Given the description of an element on the screen output the (x, y) to click on. 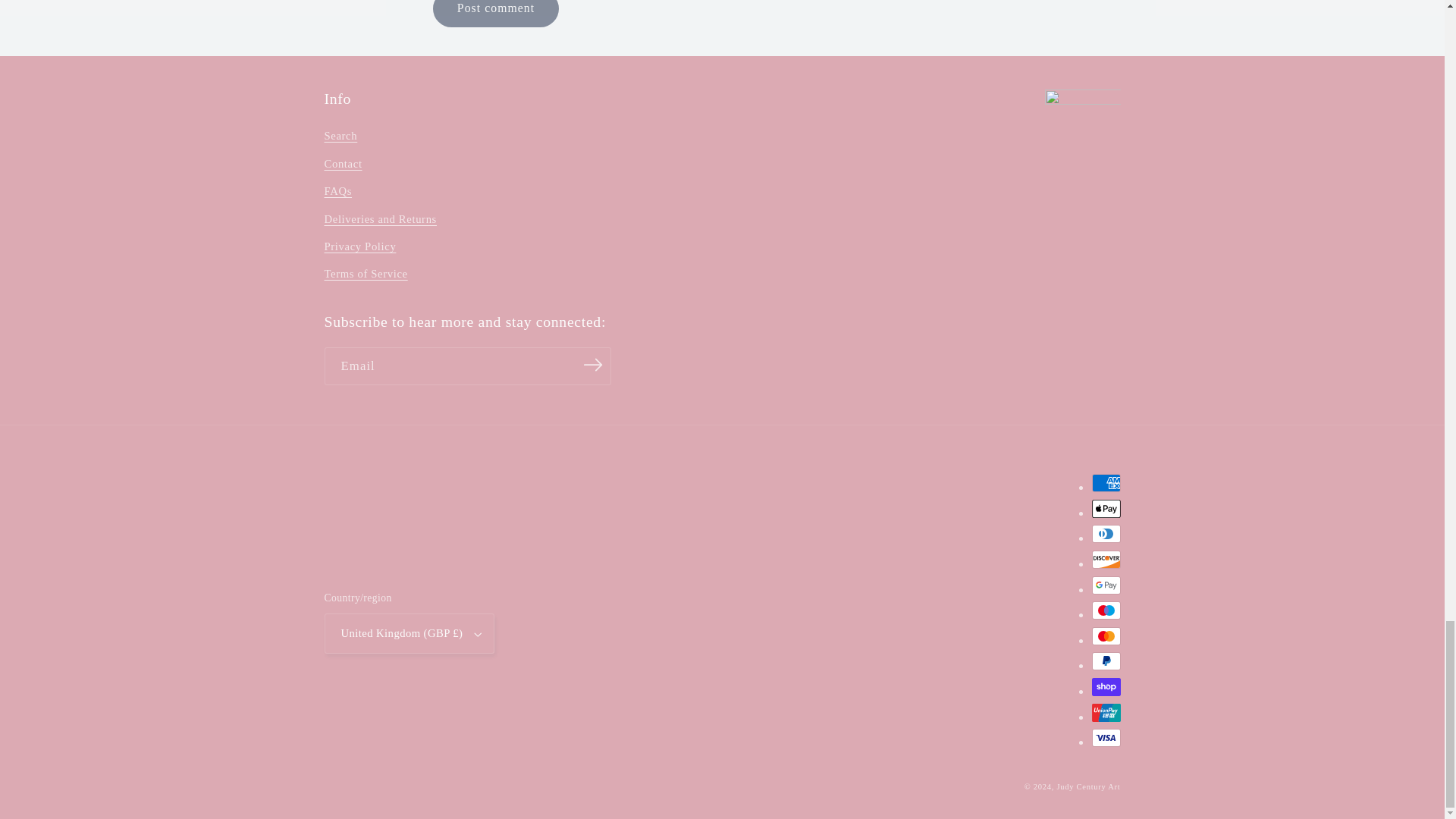
Mastercard (1106, 636)
Visa (1106, 737)
Union Pay (1106, 712)
American Express (1106, 483)
PayPal (1106, 660)
Google Pay (1106, 585)
Diners Club (1106, 533)
Discover (1106, 559)
Shop Pay (1106, 687)
Apple Pay (1106, 508)
Post comment (494, 13)
Maestro (1106, 610)
